Given the description of an element on the screen output the (x, y) to click on. 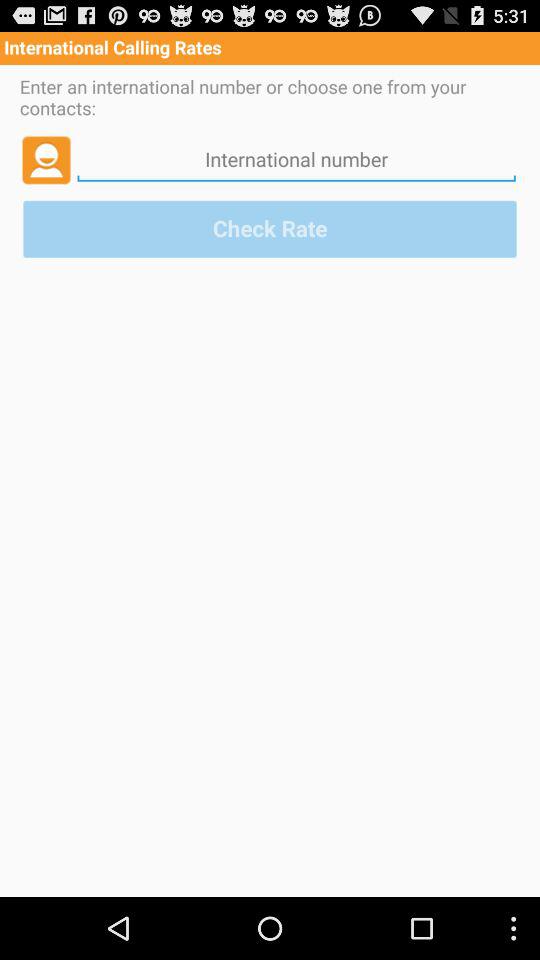
select profile (46, 159)
